Given the description of an element on the screen output the (x, y) to click on. 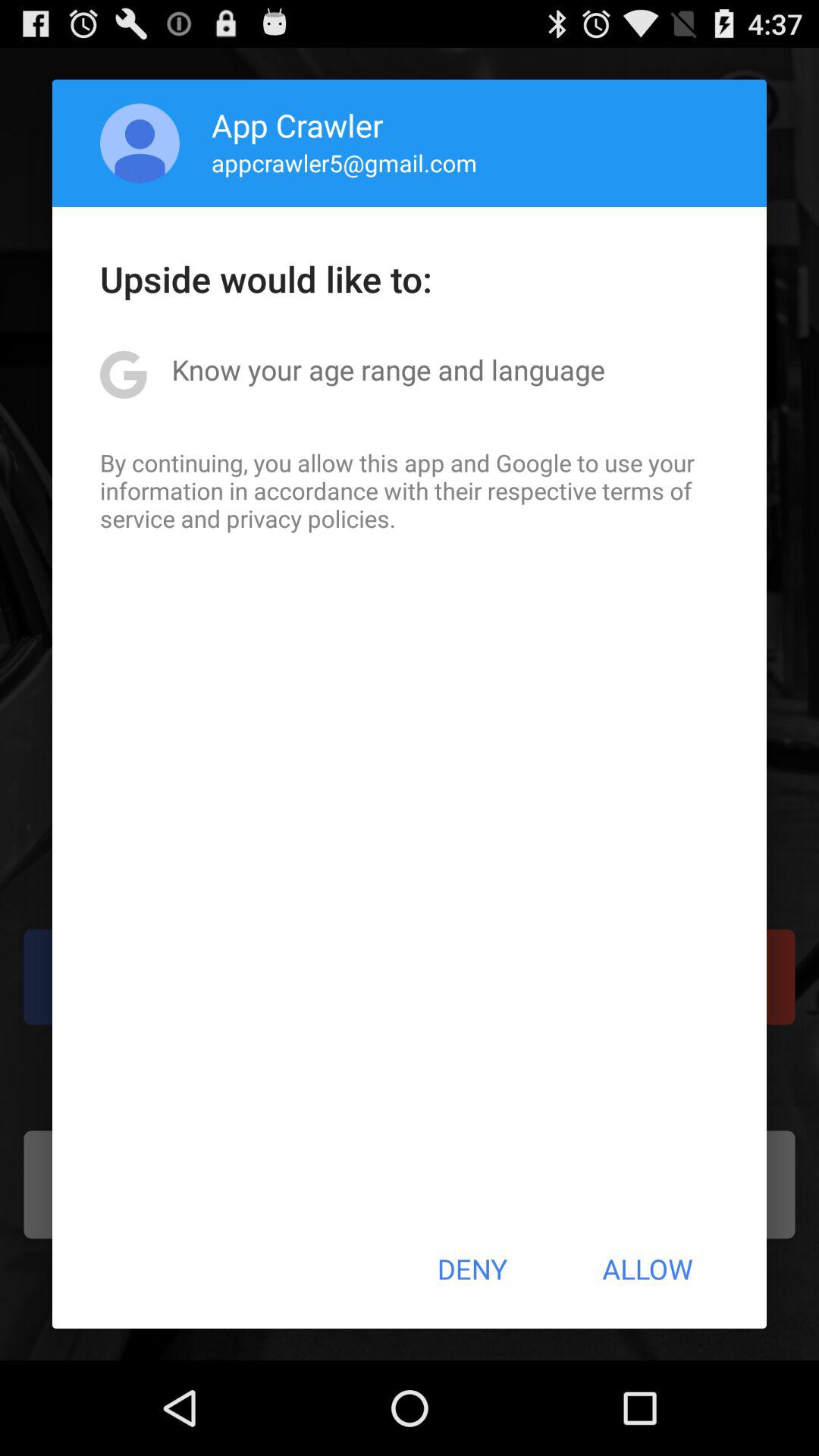
tap item below upside would like app (388, 369)
